Given the description of an element on the screen output the (x, y) to click on. 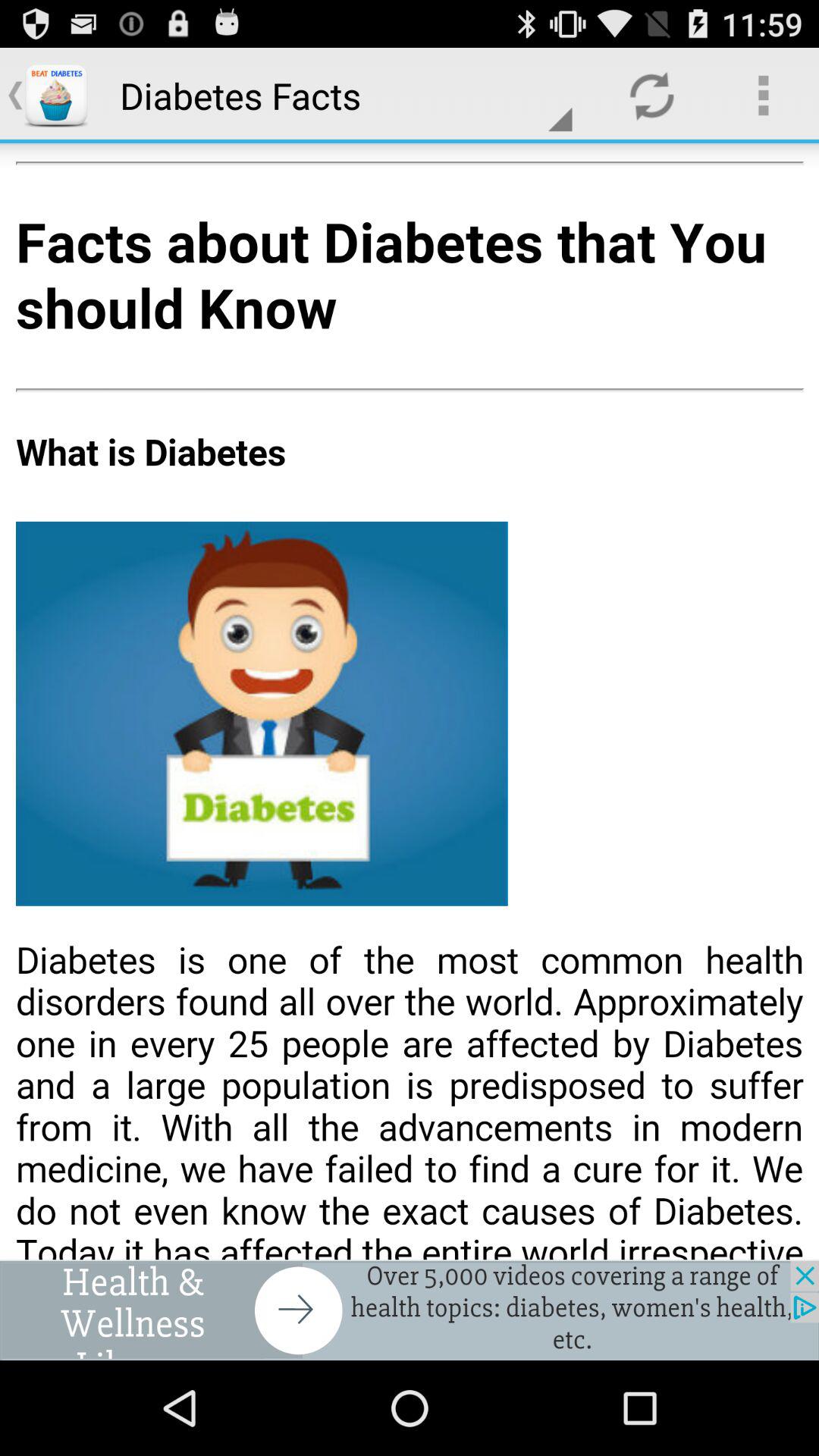
to view the heath advertisement (409, 1310)
